Given the description of an element on the screen output the (x, y) to click on. 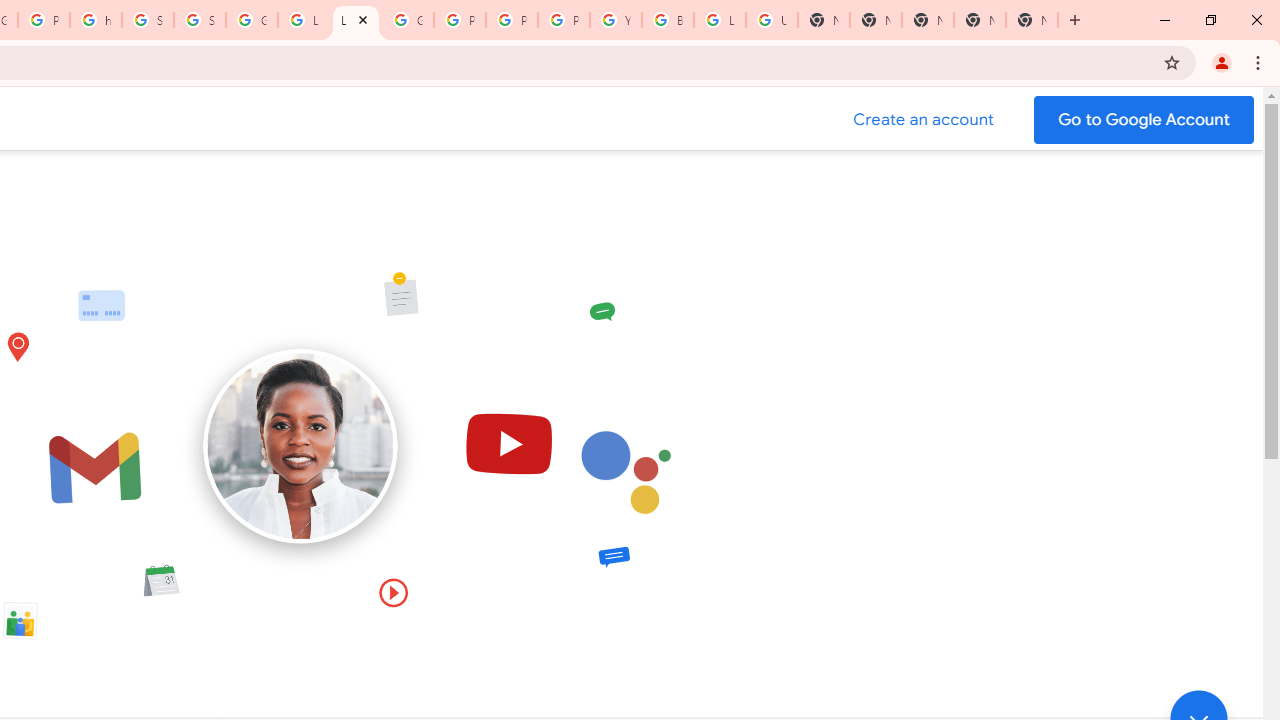
Privacy Help Center - Policies Help (511, 20)
New Tab (927, 20)
Go to your Google Account (1144, 119)
Sign in - Google Accounts (147, 20)
Sign in - Google Accounts (200, 20)
